Given the description of an element on the screen output the (x, y) to click on. 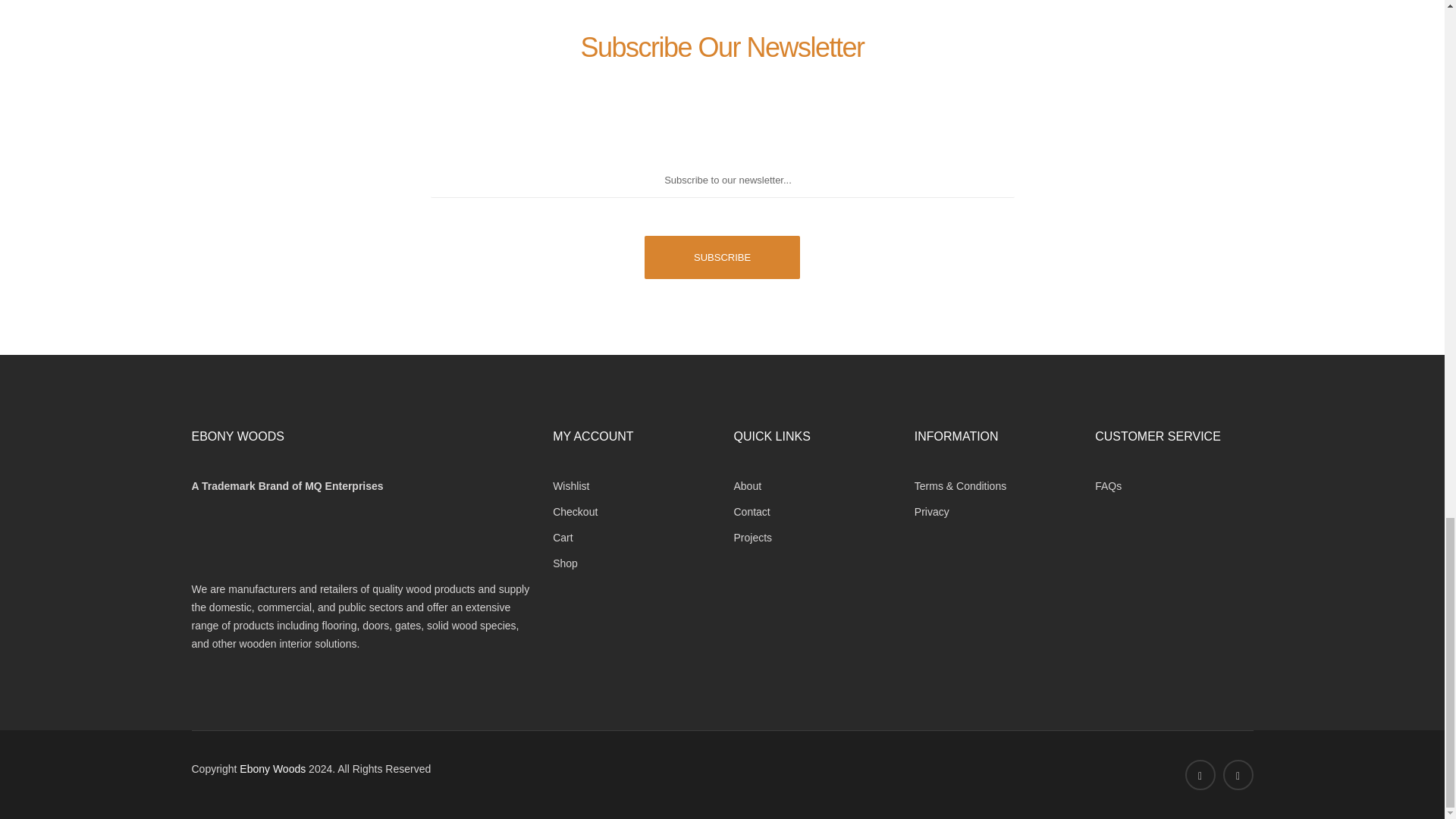
Facebook (1199, 775)
Instagram (1237, 775)
Subscribe (722, 257)
